Given the description of an element on the screen output the (x, y) to click on. 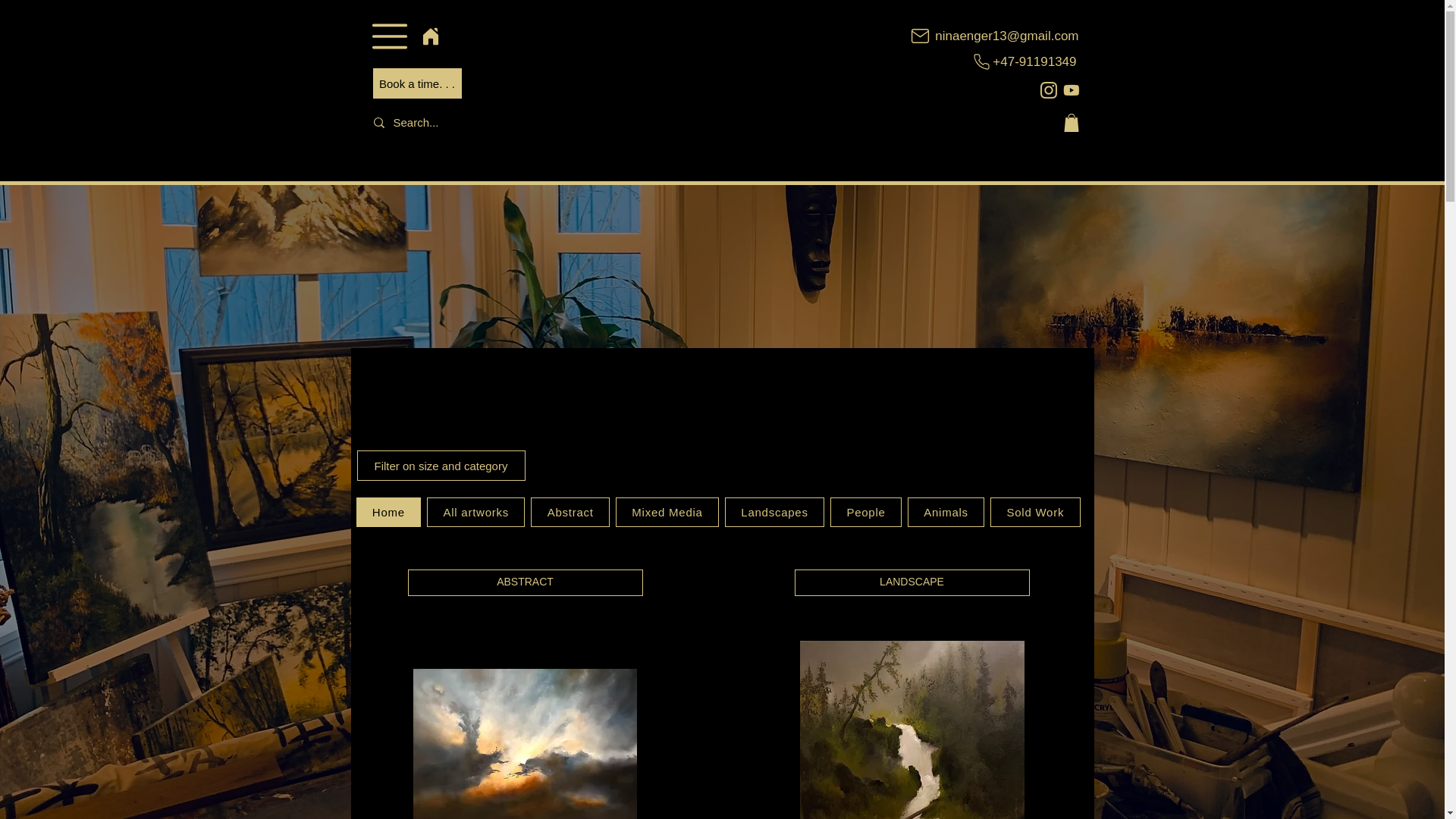
Animals (945, 512)
Landscapes (774, 512)
ABSTRACT (525, 582)
All artworks (475, 512)
Book a time. . . (416, 82)
Mixed Media (667, 512)
Filter on size and category (440, 465)
Sold Work (1035, 512)
Abstract (570, 512)
People (865, 512)
Home (389, 512)
